Given the description of an element on the screen output the (x, y) to click on. 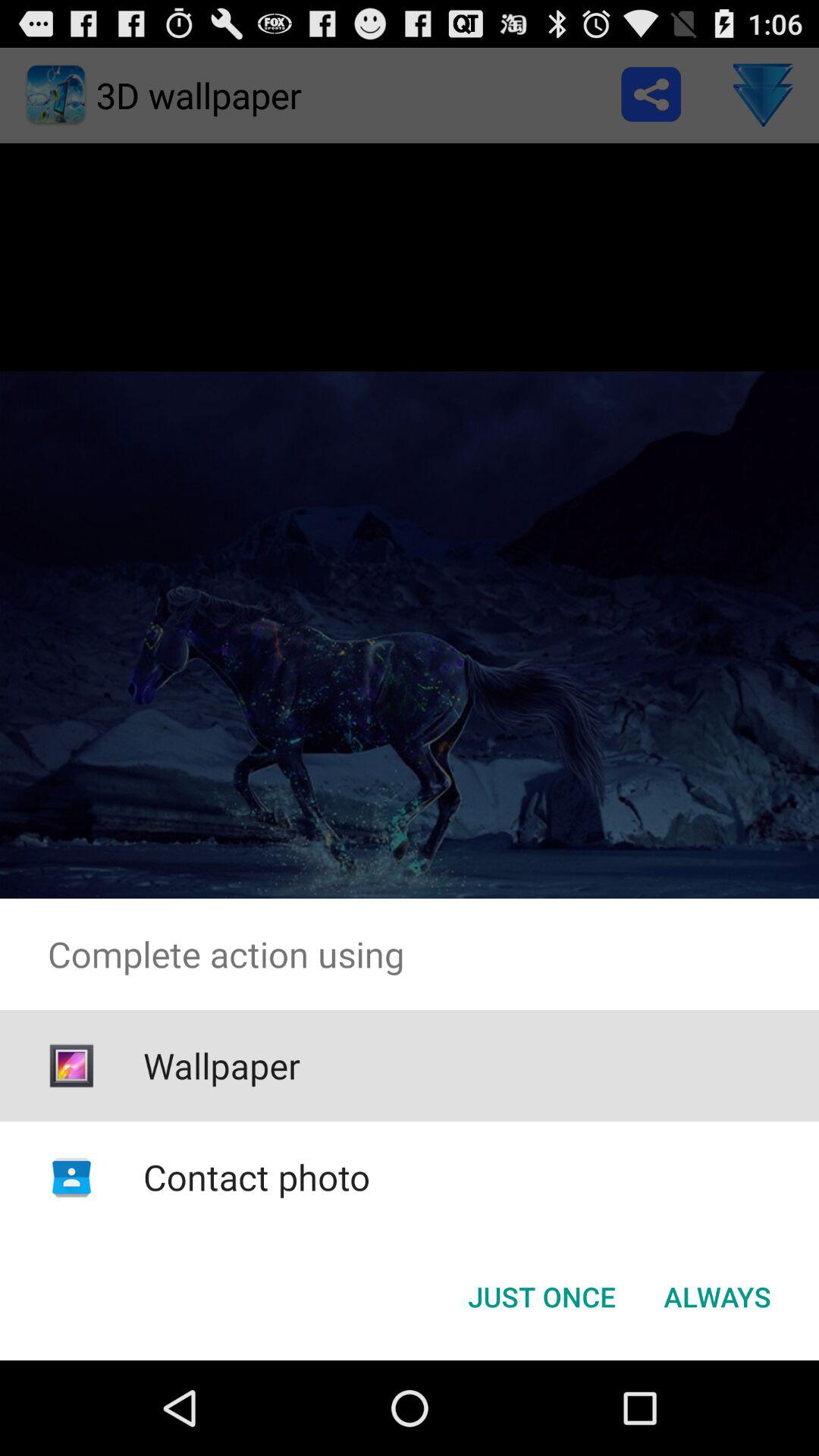
swipe to always icon (717, 1296)
